Given the description of an element on the screen output the (x, y) to click on. 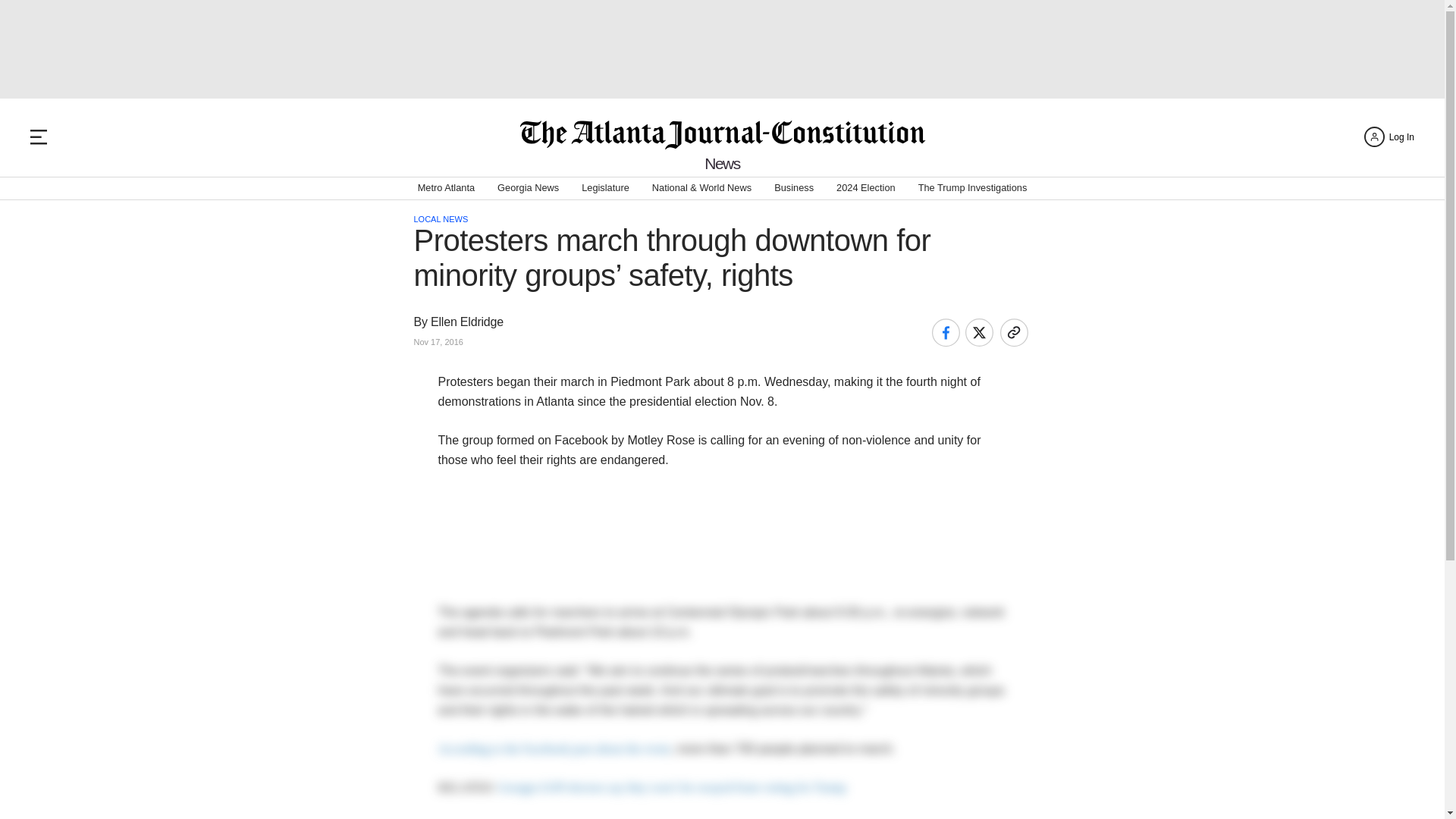
2024 Election (865, 188)
Legislature (604, 188)
Business (793, 188)
News (721, 163)
Metro Atlanta (445, 188)
The Trump Investigations (972, 188)
Georgia News (528, 188)
